Given the description of an element on the screen output the (x, y) to click on. 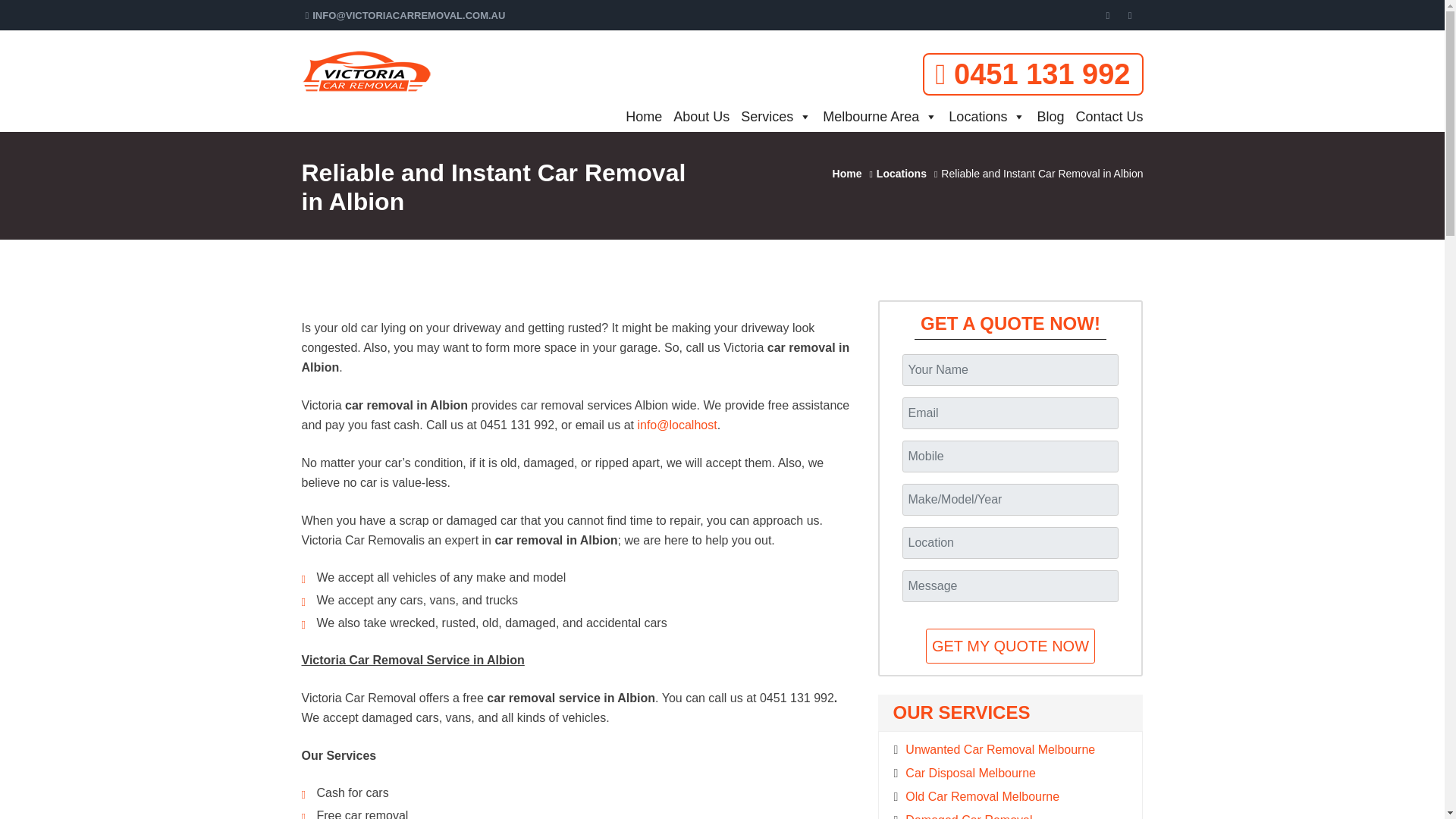
Melbourne Area (873, 116)
Services (769, 116)
Locations (981, 116)
About Us (695, 116)
Home (638, 116)
0451 131 992 (1032, 74)
get My quote Now (1010, 645)
